Given the description of an element on the screen output the (x, y) to click on. 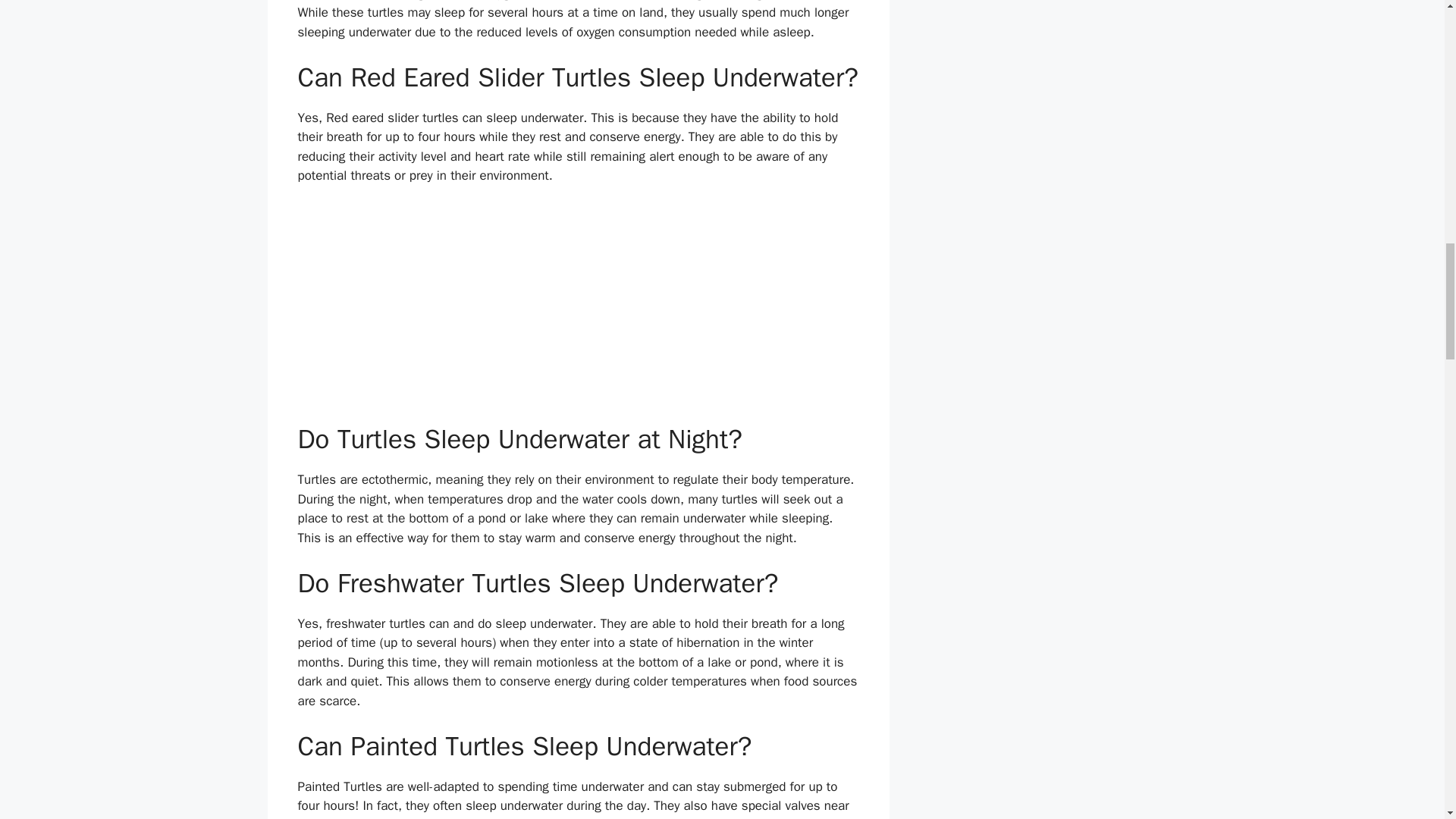
Advertisement (578, 310)
